Given the description of an element on the screen output the (x, y) to click on. 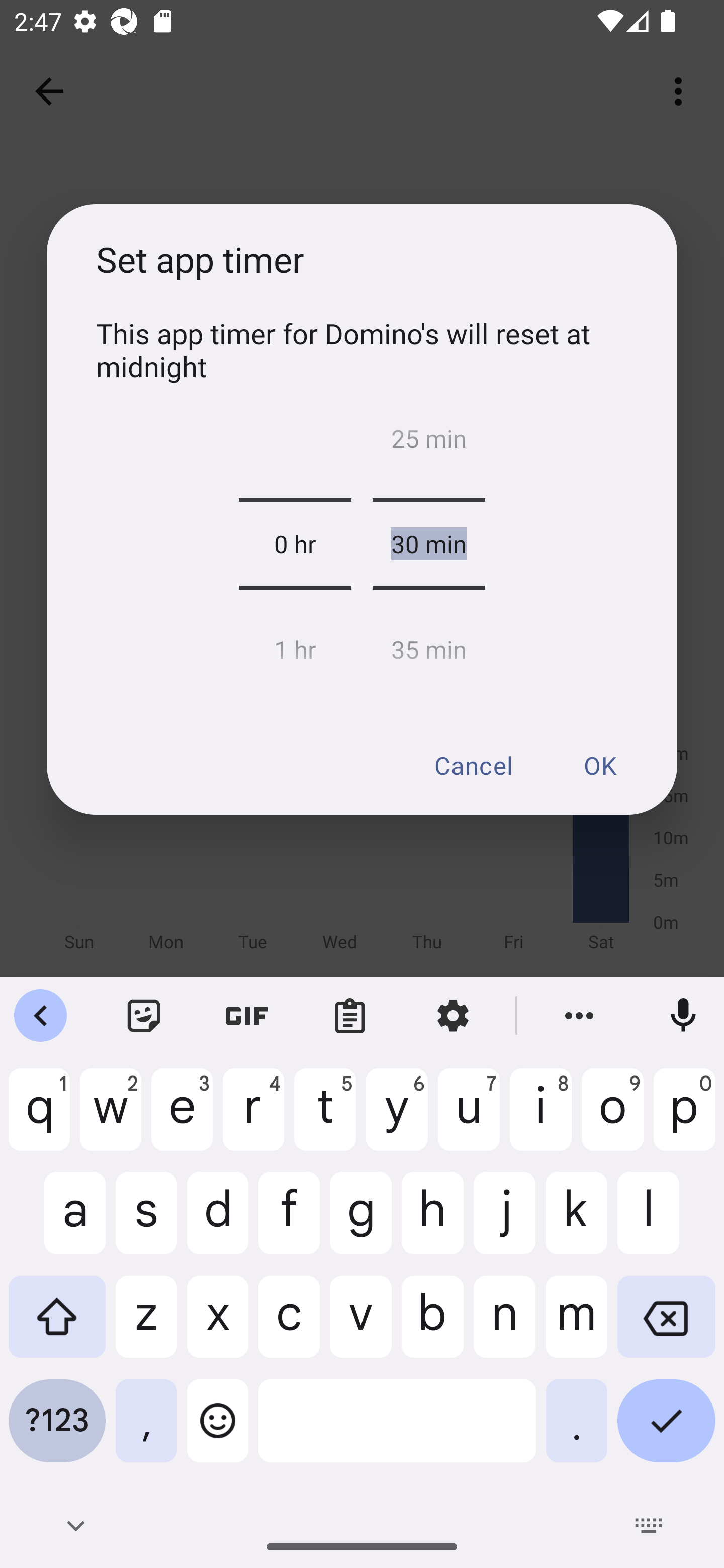
25 min (428, 443)
0 hr (294, 543)
30 min (428, 543)
1 hr (294, 644)
35 min (428, 644)
Cancel (473, 764)
OK (599, 764)
